Given the description of an element on the screen output the (x, y) to click on. 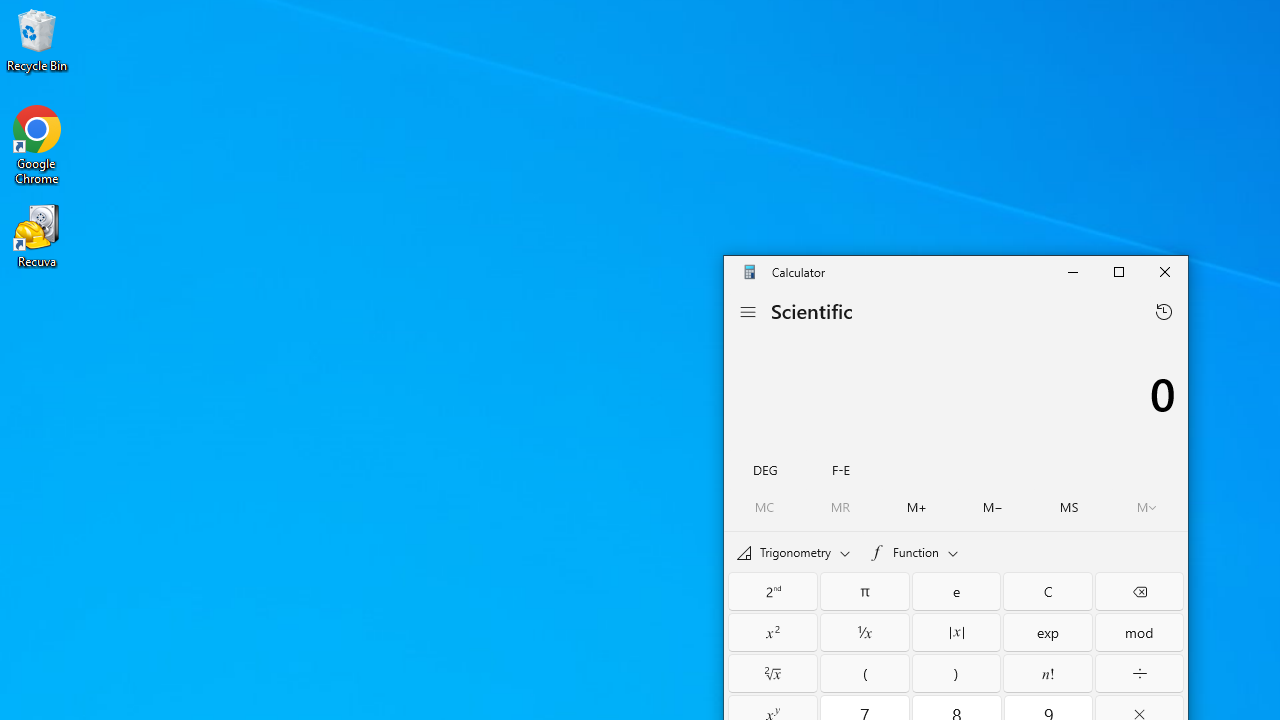
Degrees toggle (765, 468)
Inverse function (772, 591)
Scientific notation (840, 468)
Minimize Calculator (1072, 272)
Open Navigation (748, 311)
Square (772, 632)
Left parenthesis (865, 672)
Functions (913, 551)
Functions (913, 552)
Open memory flyout (1146, 507)
Memory store (1069, 507)
Maximize Calculator (1118, 272)
Pi (865, 591)
Divide by (1139, 672)
Square root (772, 672)
